Given the description of an element on the screen output the (x, y) to click on. 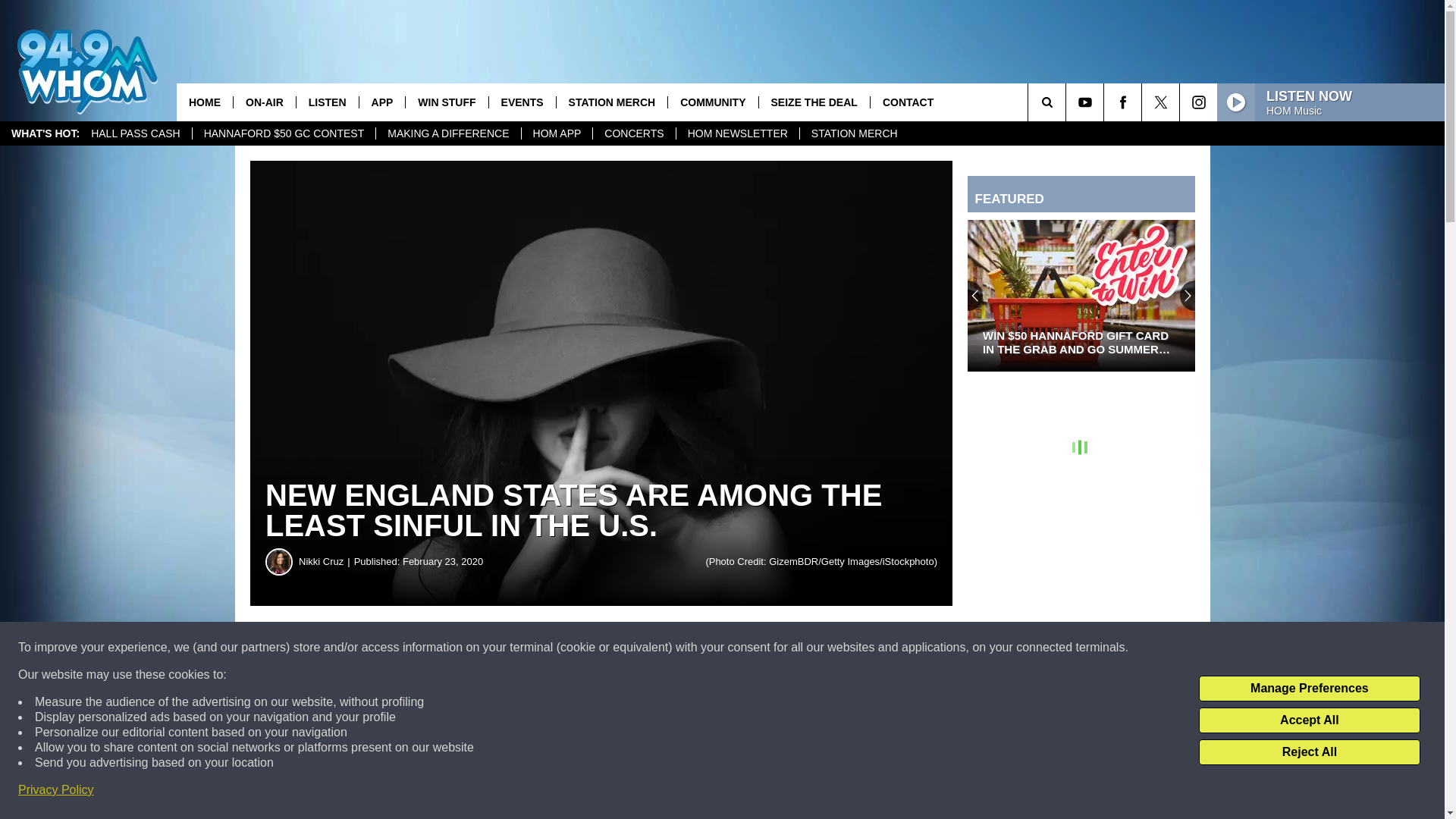
Manage Preferences (1309, 688)
SEARCH (1068, 102)
Accept All (1309, 720)
Share on Facebook (460, 647)
LISTEN (326, 102)
HOM NEWSLETTER (737, 133)
CONCERTS (633, 133)
Reject All (1309, 751)
APP (382, 102)
Privacy Policy (55, 789)
